Given the description of an element on the screen output the (x, y) to click on. 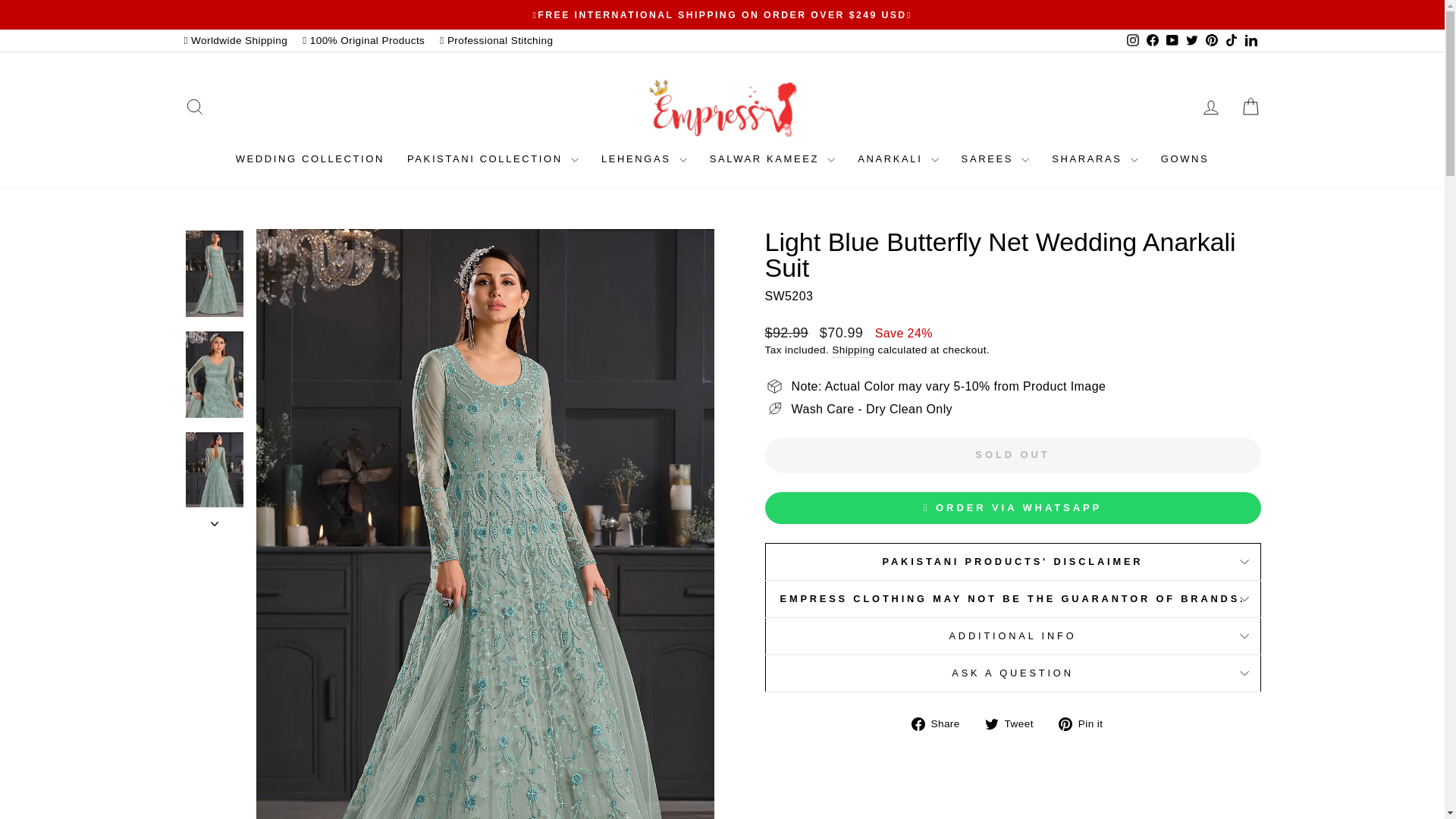
twitter (1192, 39)
Empress Clothing on YouTube (1170, 40)
instagram (1132, 39)
Empress Clothing on Facebook (1151, 40)
icon-chevron (214, 523)
Empress Clothing on Pinterest (1211, 40)
Empress Clothing on Instagram (1131, 40)
Empress Clothing on LinkedIn (1250, 40)
Empress Clothing on Twitter (1190, 40)
Empress Clothing on TikTok (1230, 40)
